Given the description of an element on the screen output the (x, y) to click on. 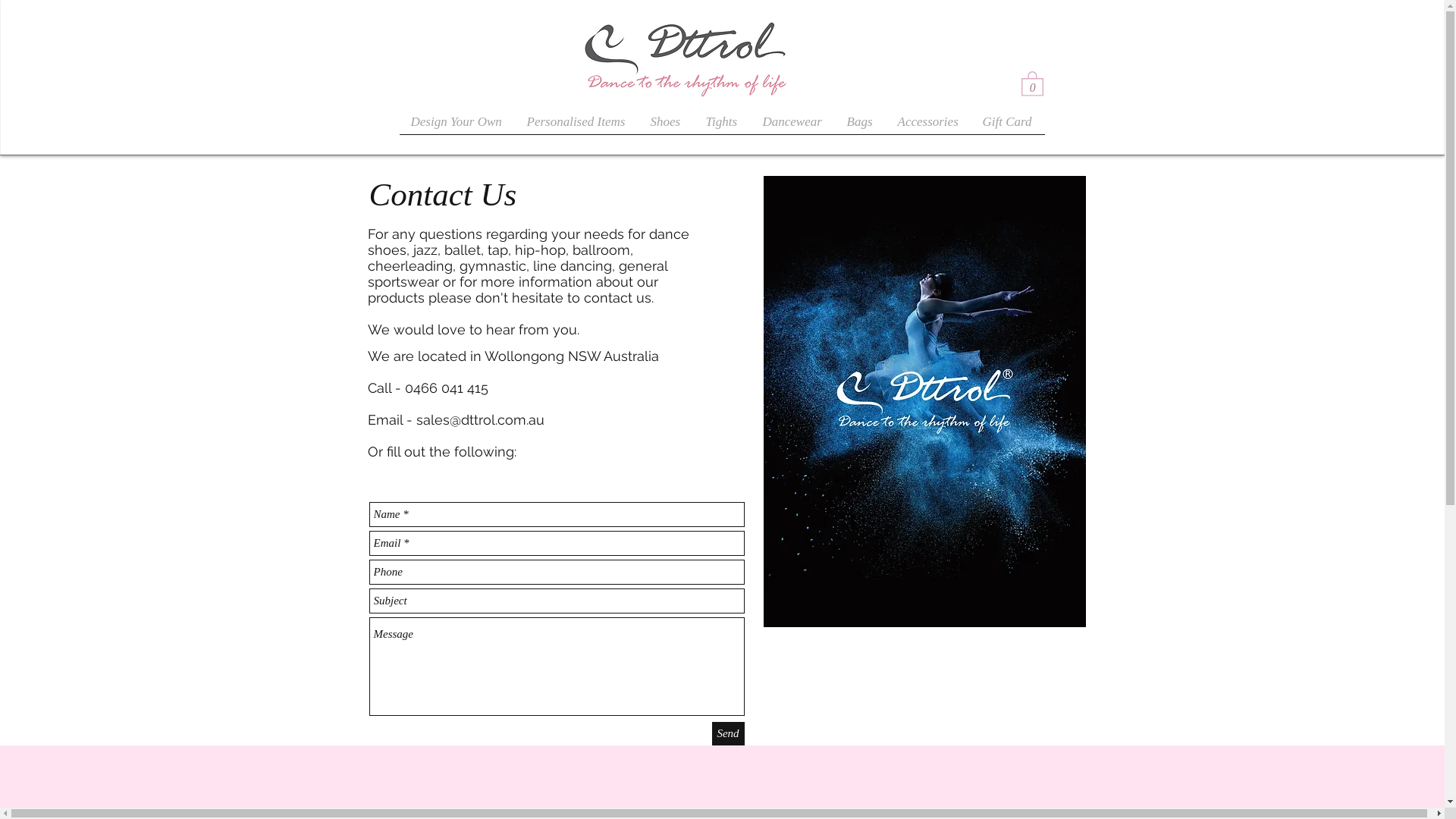
Send Element type: text (727, 733)
sales@dttrol.com.au Element type: text (479, 419)
Gift Card Element type: text (1007, 126)
Bags Element type: text (860, 126)
Tights Element type: text (722, 126)
Design Your Own Element type: text (456, 126)
Shoes Element type: text (665, 126)
Dancewear Element type: text (792, 126)
Personalised Items Element type: text (577, 126)
Accessories Element type: text (927, 126)
0 Element type: text (1031, 82)
